Given the description of an element on the screen output the (x, y) to click on. 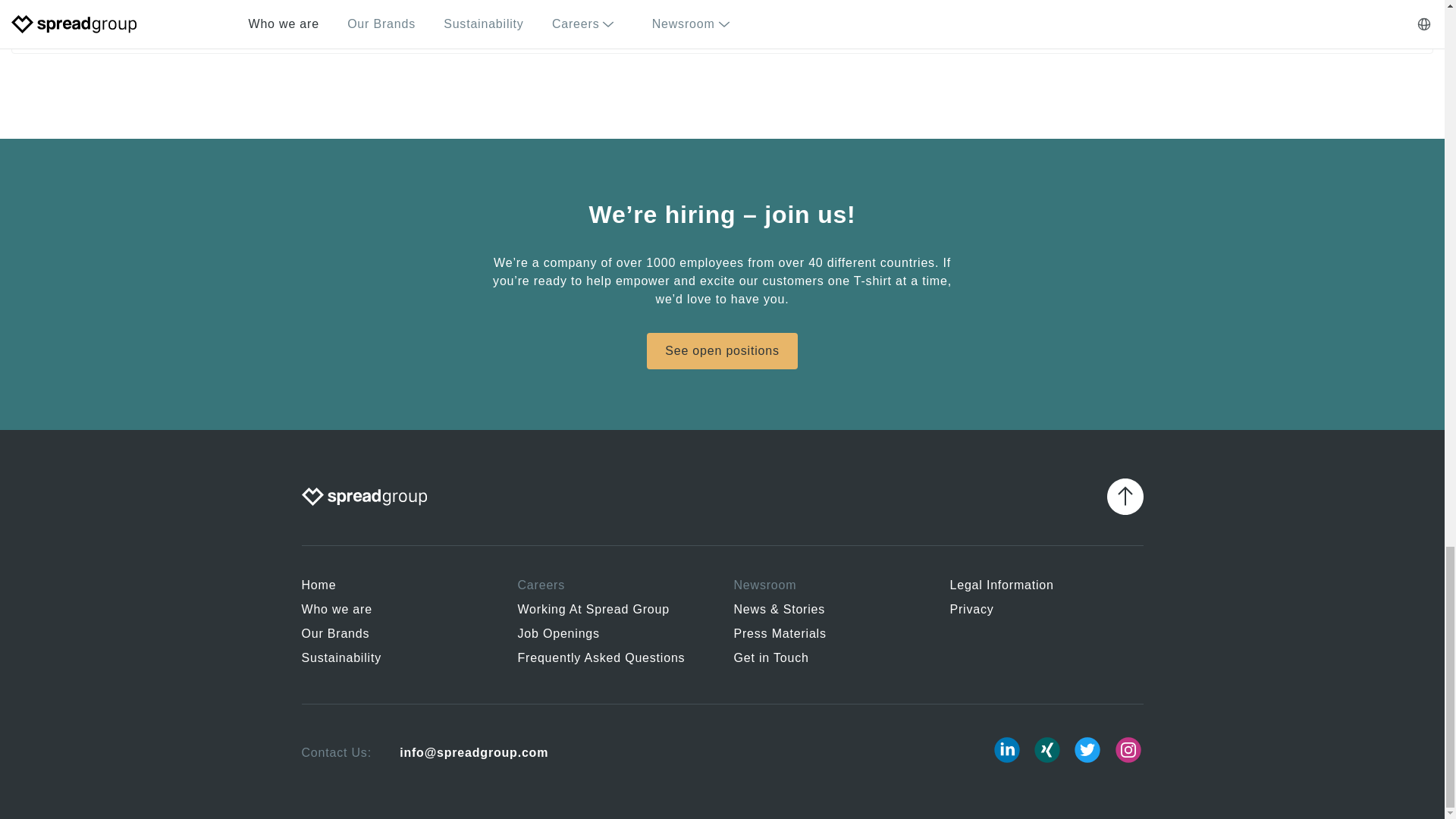
Xing (1047, 749)
Working At Spread Group (613, 612)
Legal Information (1045, 588)
See open positions (721, 350)
Home (398, 588)
Job Openings (613, 636)
Sustainability (398, 661)
Our Brands (398, 636)
Frequently Asked Questions (613, 661)
Who we are (398, 612)
Spreadgroup (363, 496)
LinkedIn (1006, 749)
Privacy (1045, 612)
Get in Touch (830, 661)
Instagram (1127, 749)
